Given the description of an element on the screen output the (x, y) to click on. 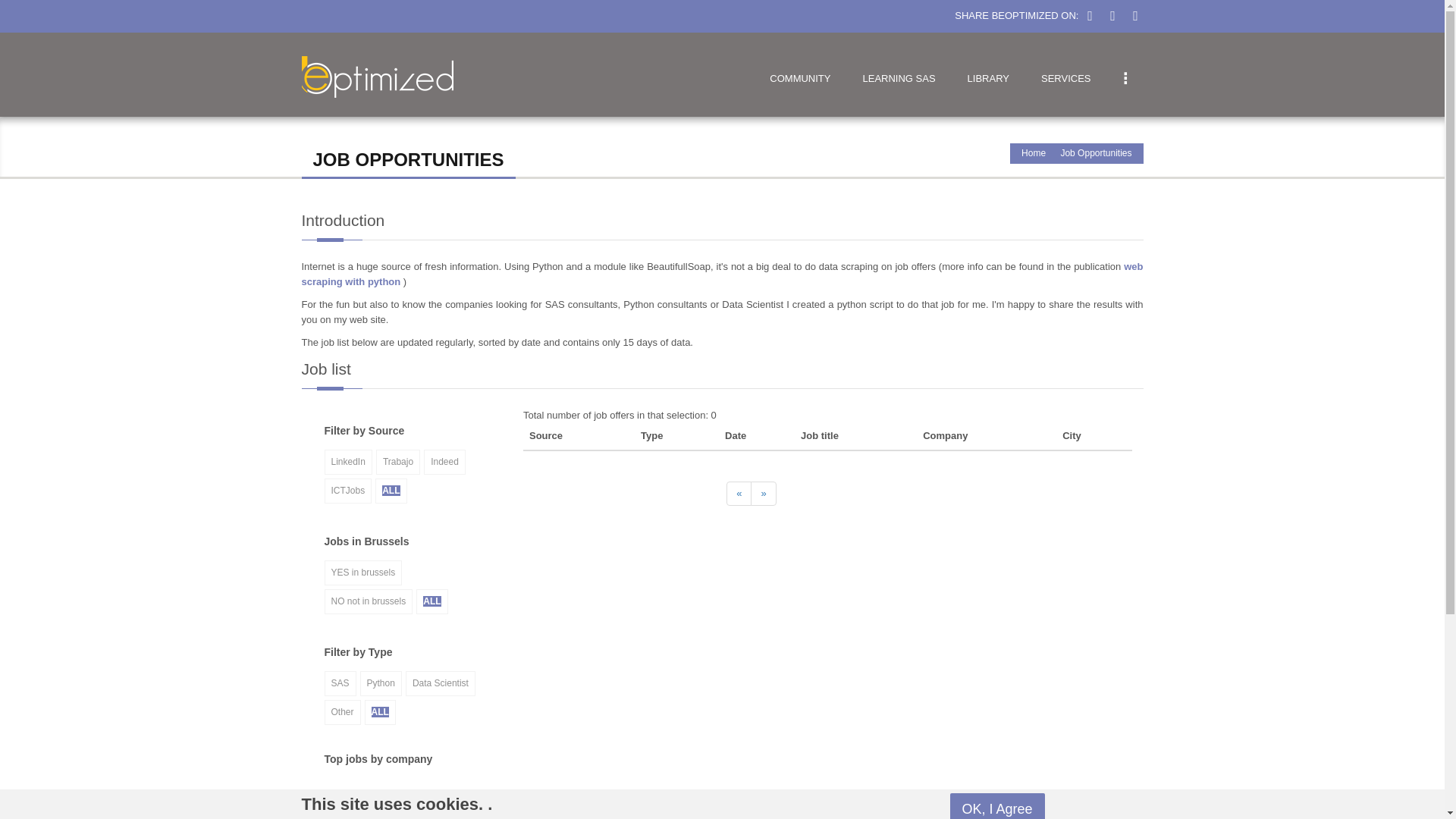
COMMUNITY (799, 74)
LEARNING SAS (897, 74)
SERVICES (1065, 74)
